Given the description of an element on the screen output the (x, y) to click on. 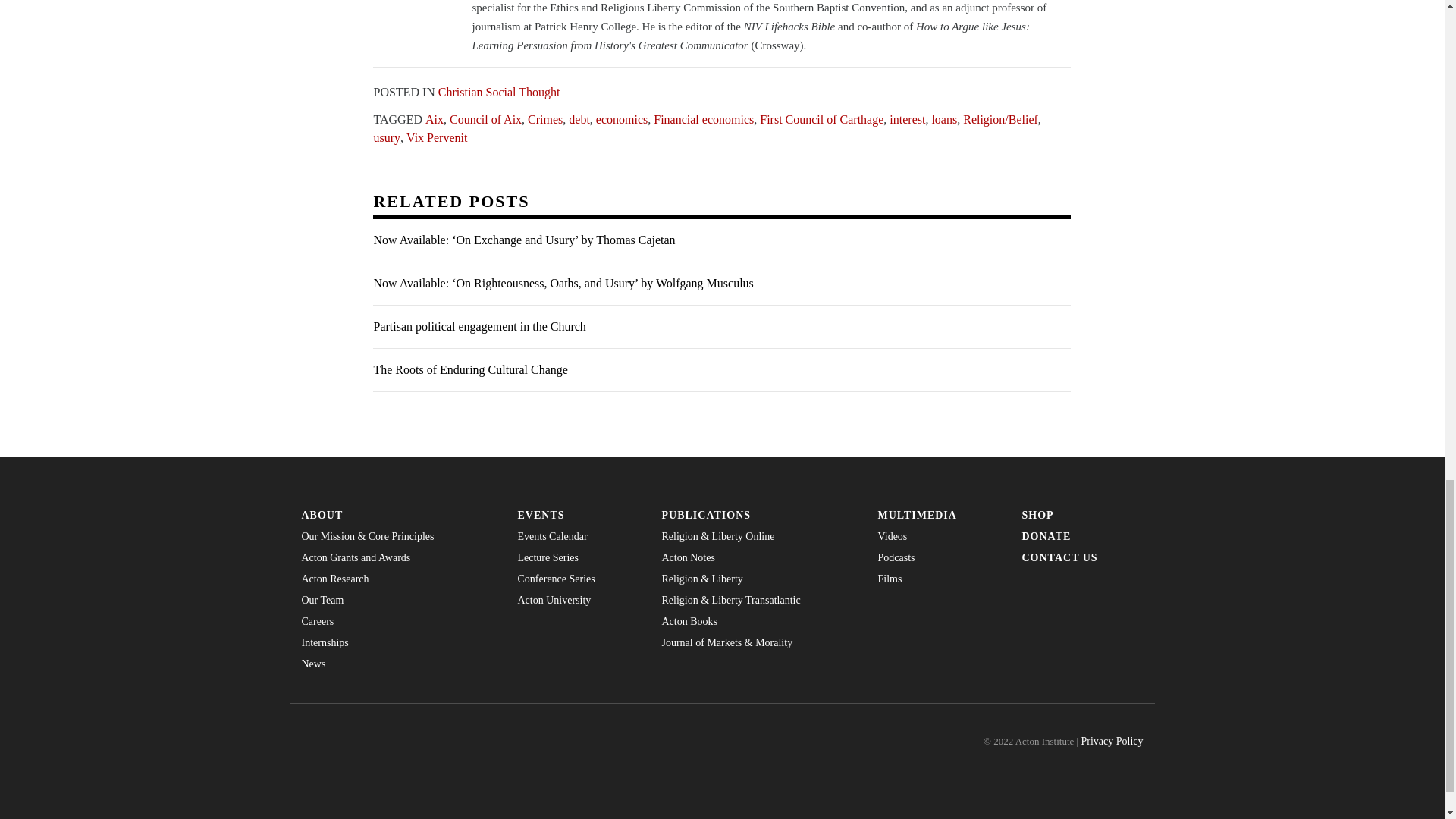
Vix Pervenit (436, 136)
Partisan political engagement in the Church (721, 326)
usury (386, 136)
loans (943, 118)
Crimes (544, 118)
Partisan political engagement in the Church (721, 326)
Christian Social Thought (499, 91)
Financial economics (703, 118)
Aix (434, 118)
debt (579, 118)
The Roots of Enduring Cultural Change (721, 370)
economics (621, 118)
Council of Aix (485, 118)
The Roots of Enduring Cultural Change (721, 370)
interest (906, 118)
